Given the description of an element on the screen output the (x, y) to click on. 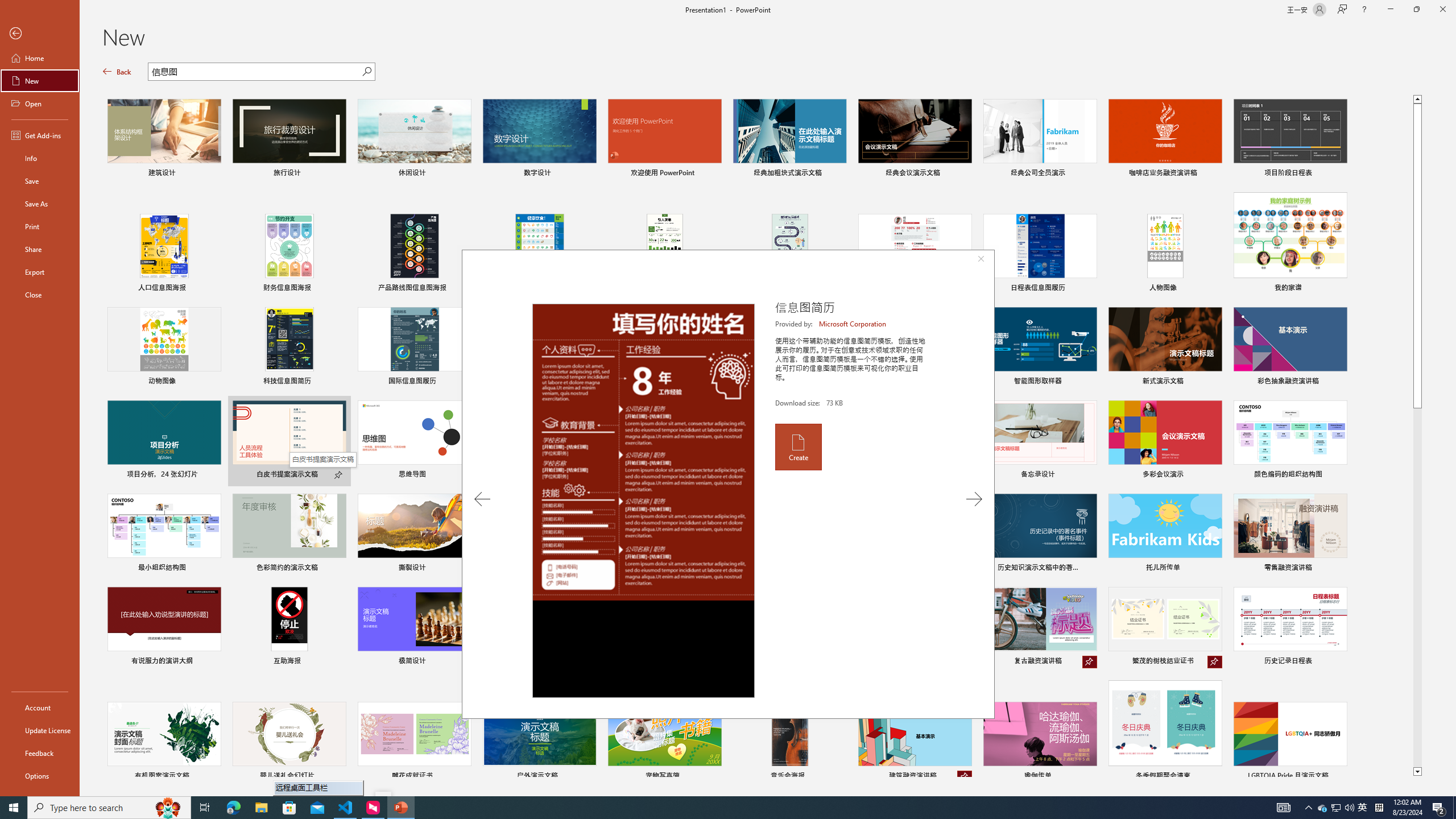
Print (40, 225)
Unpin from list (964, 776)
Info (40, 157)
